Given the description of an element on the screen output the (x, y) to click on. 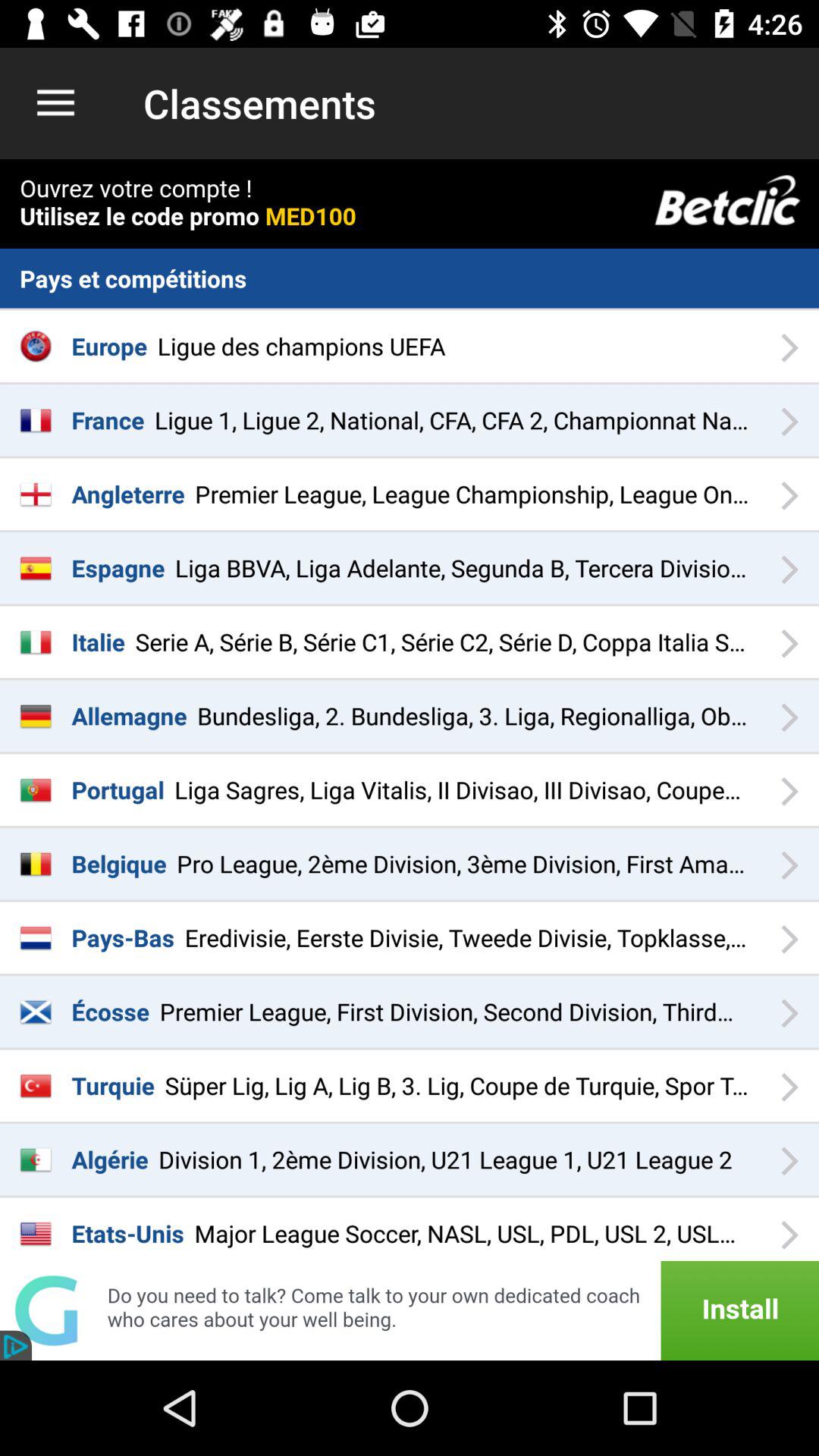
install advertisement (409, 1310)
